Given the description of an element on the screen output the (x, y) to click on. 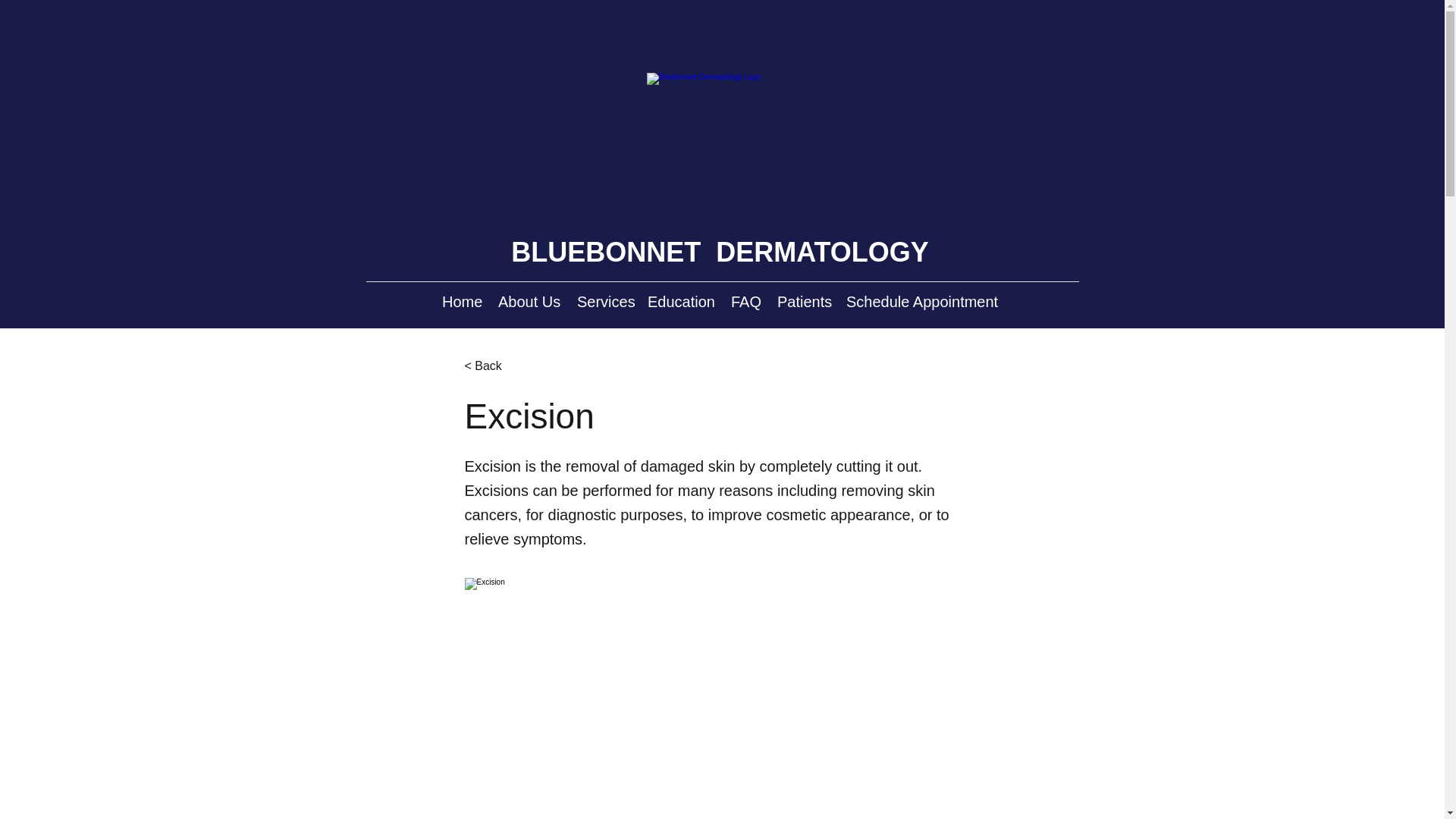
FAQ (746, 301)
BLUEBONNET  DERMATOLOGY (719, 251)
Schedule Appointment (924, 301)
Excision 2.jpg (721, 698)
Home (461, 301)
